Given the description of an element on the screen output the (x, y) to click on. 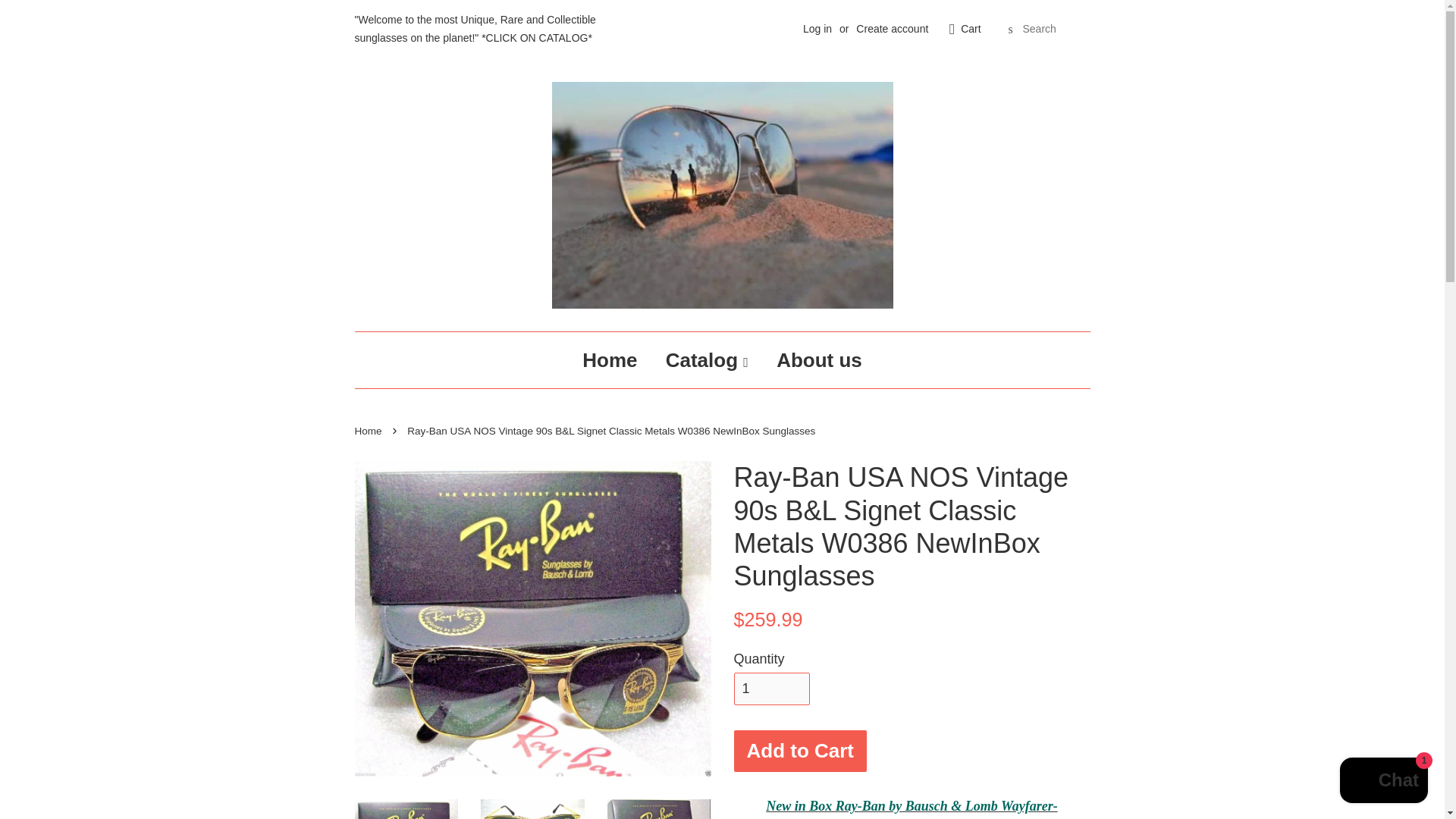
Cart (969, 29)
About us (813, 360)
Home (370, 430)
1 (771, 688)
Add to Cart (799, 751)
Home (614, 360)
Catalog (706, 360)
Shopify online store chat (1383, 781)
Back to the frontpage (370, 430)
Log in (817, 28)
Search (1010, 29)
Create account (892, 28)
